Given the description of an element on the screen output the (x, y) to click on. 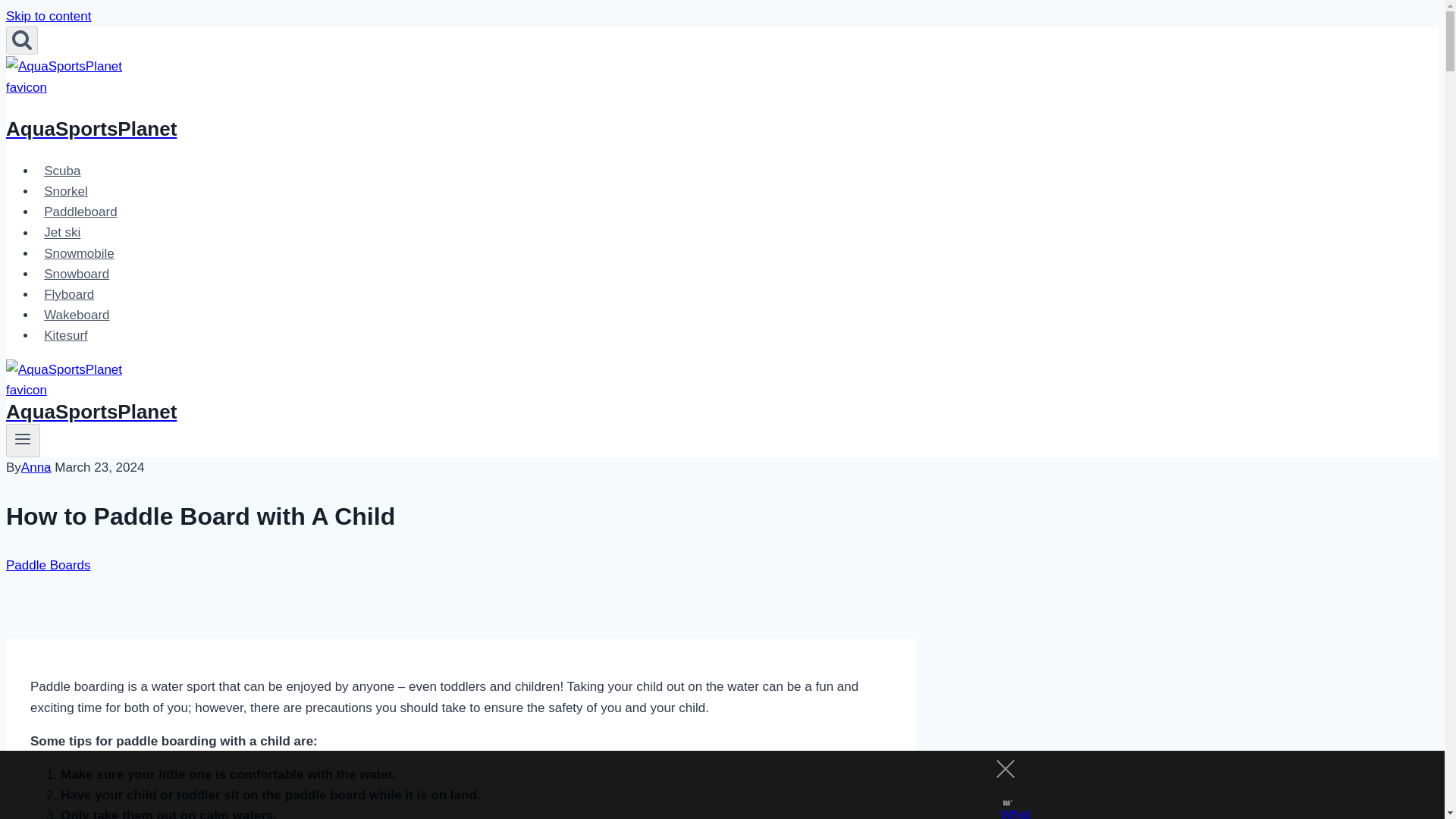
3rd party ad content (708, 785)
Flyboard (68, 294)
Toggle Menu (22, 440)
Search (21, 38)
Scuba (62, 170)
Skip to content (47, 16)
Toggle Menu (22, 438)
Kitesurf (66, 335)
AquaSportsPlanet (460, 403)
Snowboard (76, 274)
Anna (35, 467)
Snorkel (66, 191)
Search (21, 40)
Snowmobile (79, 252)
Wakeboard (76, 315)
